Given the description of an element on the screen output the (x, y) to click on. 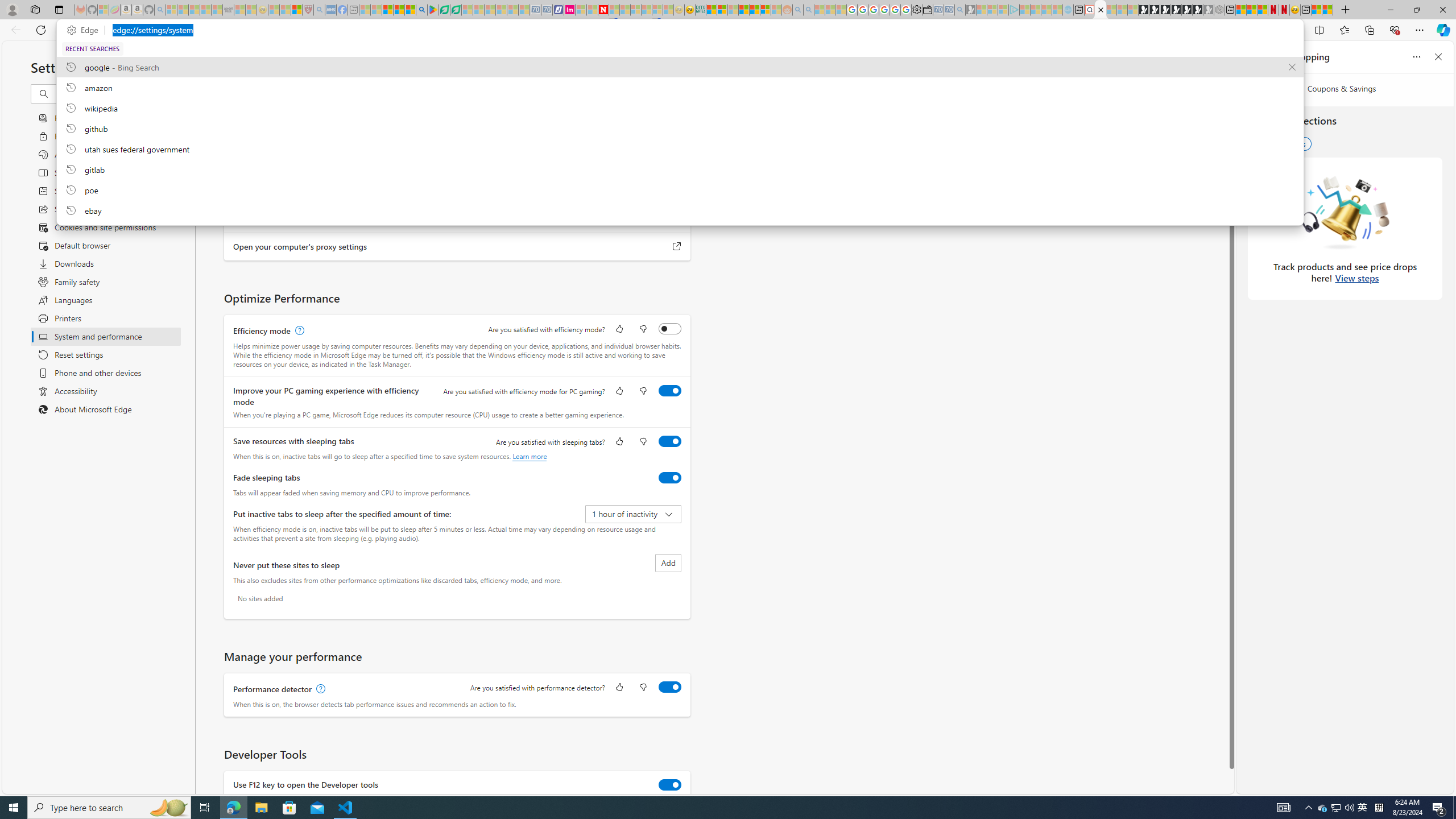
github, recent searches from history (679, 127)
